Given the description of an element on the screen output the (x, y) to click on. 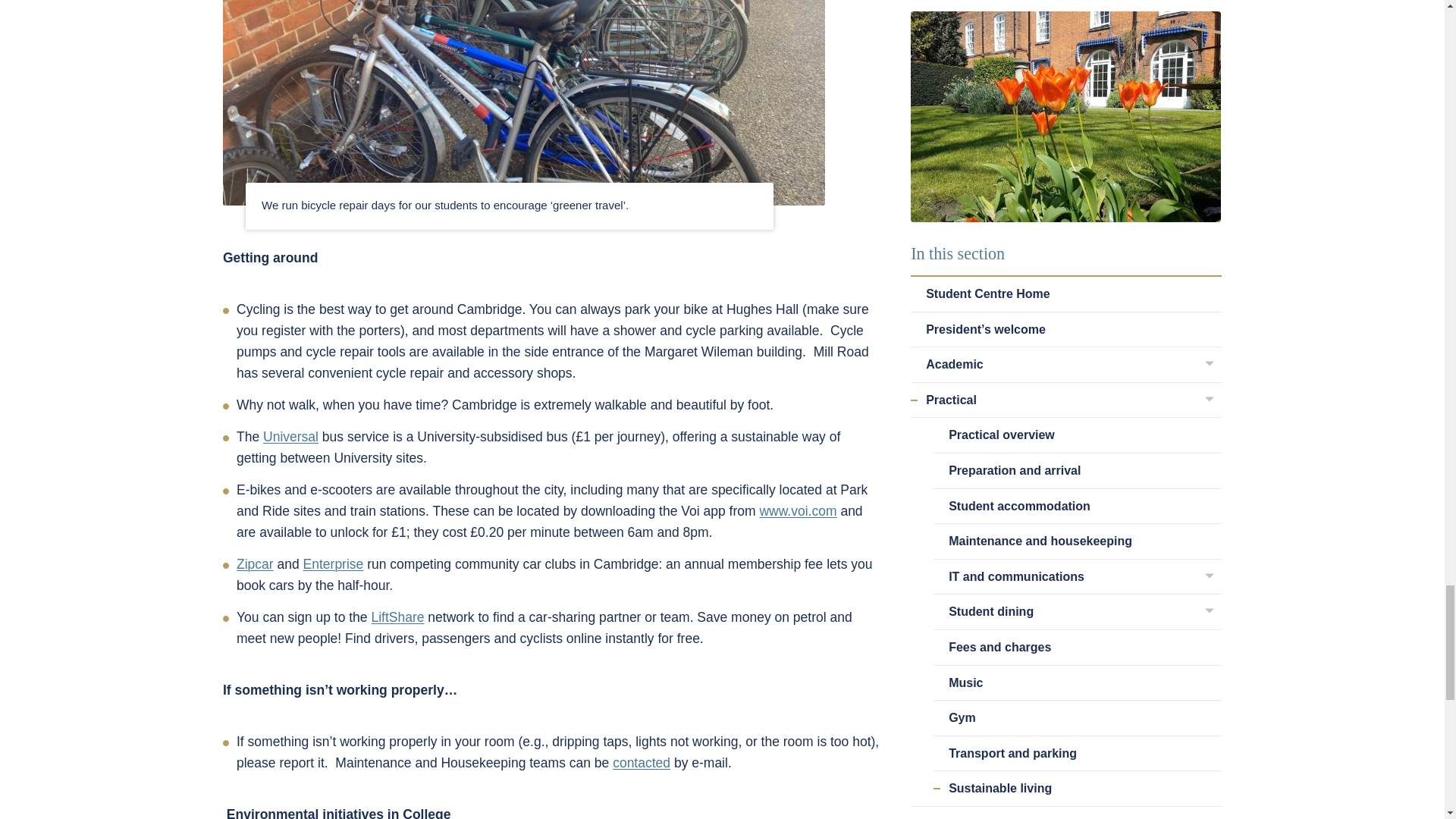
Bikes - Hughes Hall (523, 102)
